Given the description of an element on the screen output the (x, y) to click on. 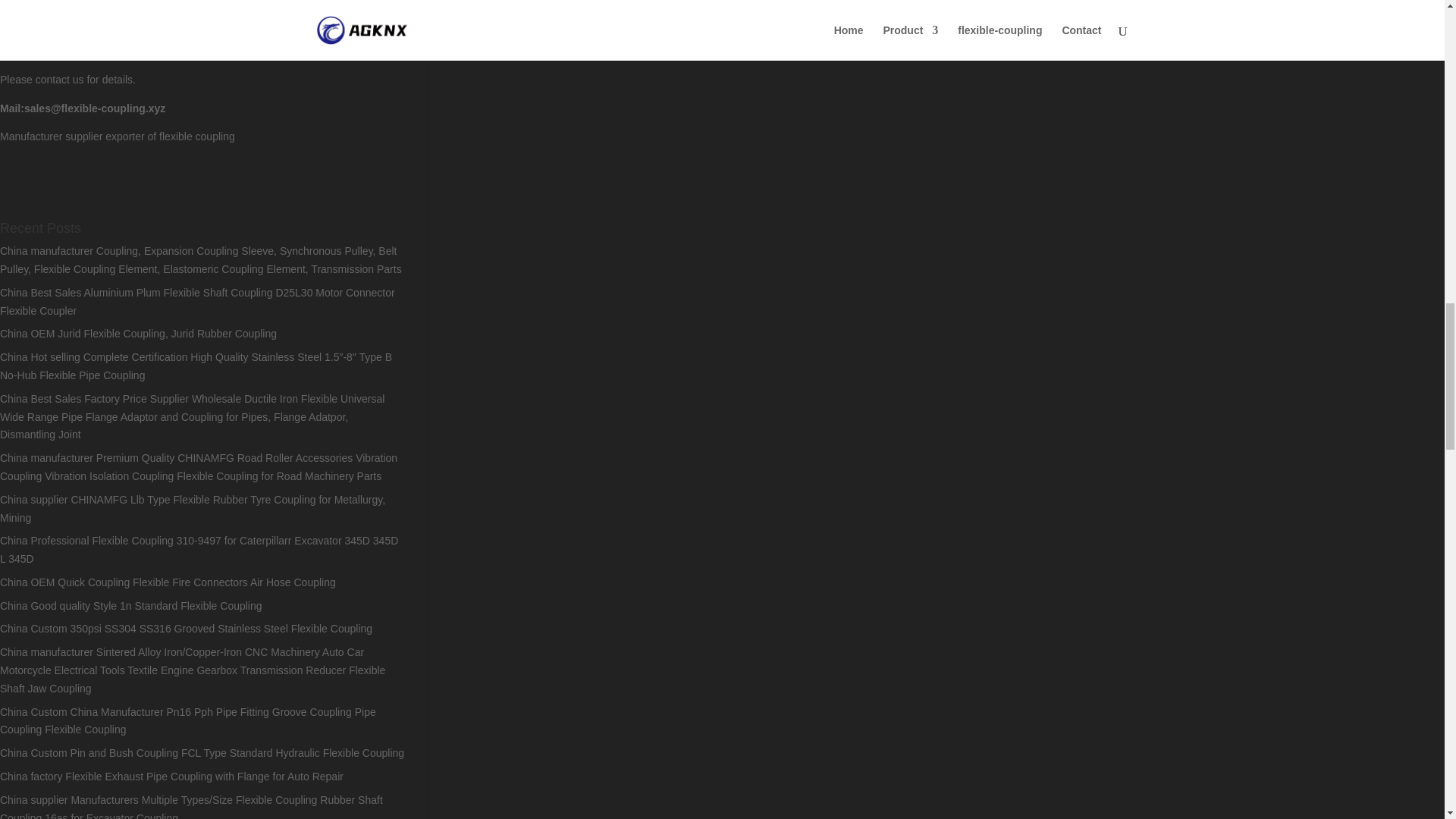
China Good quality Style 1n Standard Flexible Coupling (131, 605)
China OEM Jurid Flexible Coupling, Jurid Rubber Coupling (138, 333)
